Given the description of an element on the screen output the (x, y) to click on. 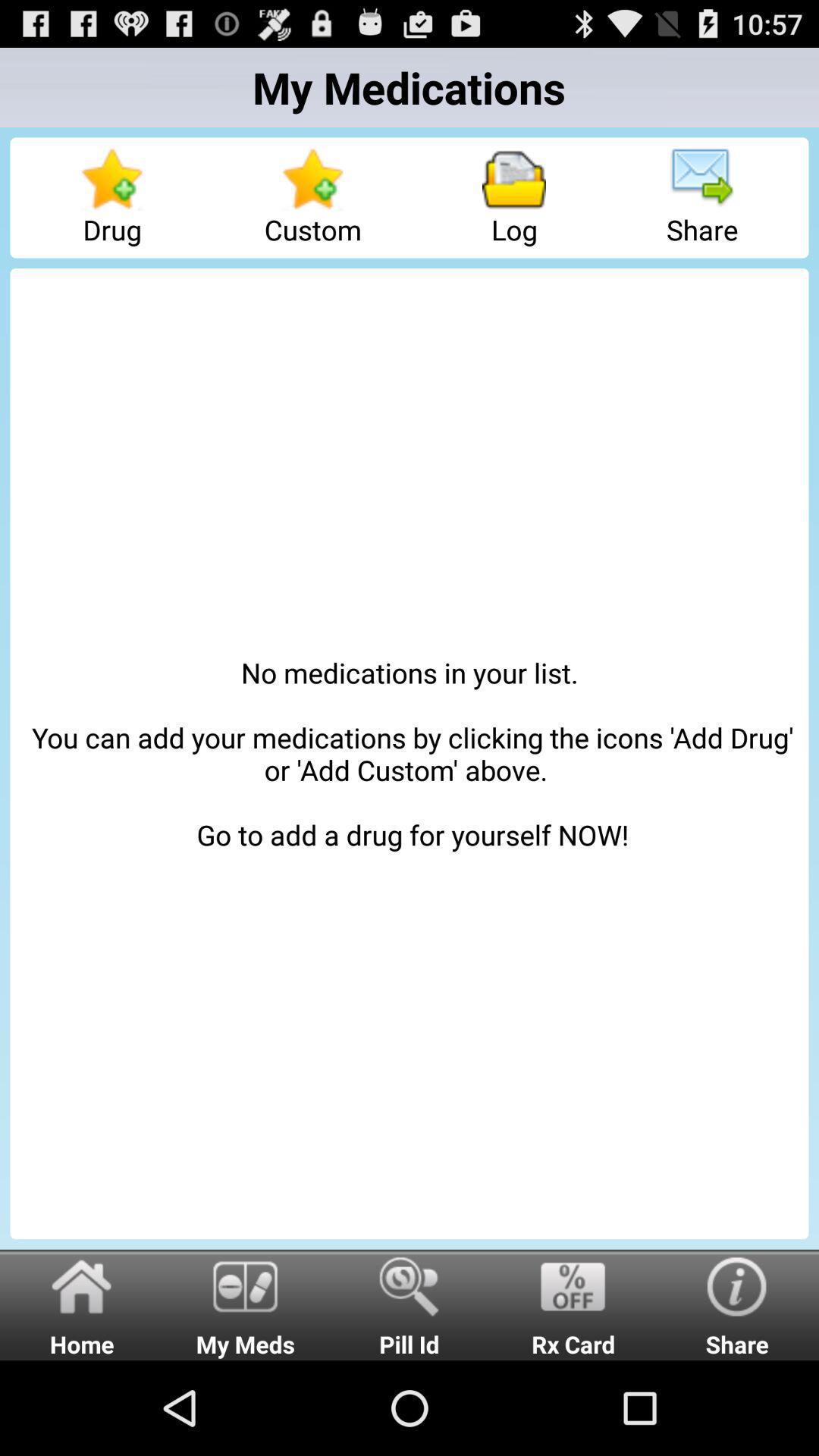
click the item to the right of my meds icon (409, 1304)
